Given the description of an element on the screen output the (x, y) to click on. 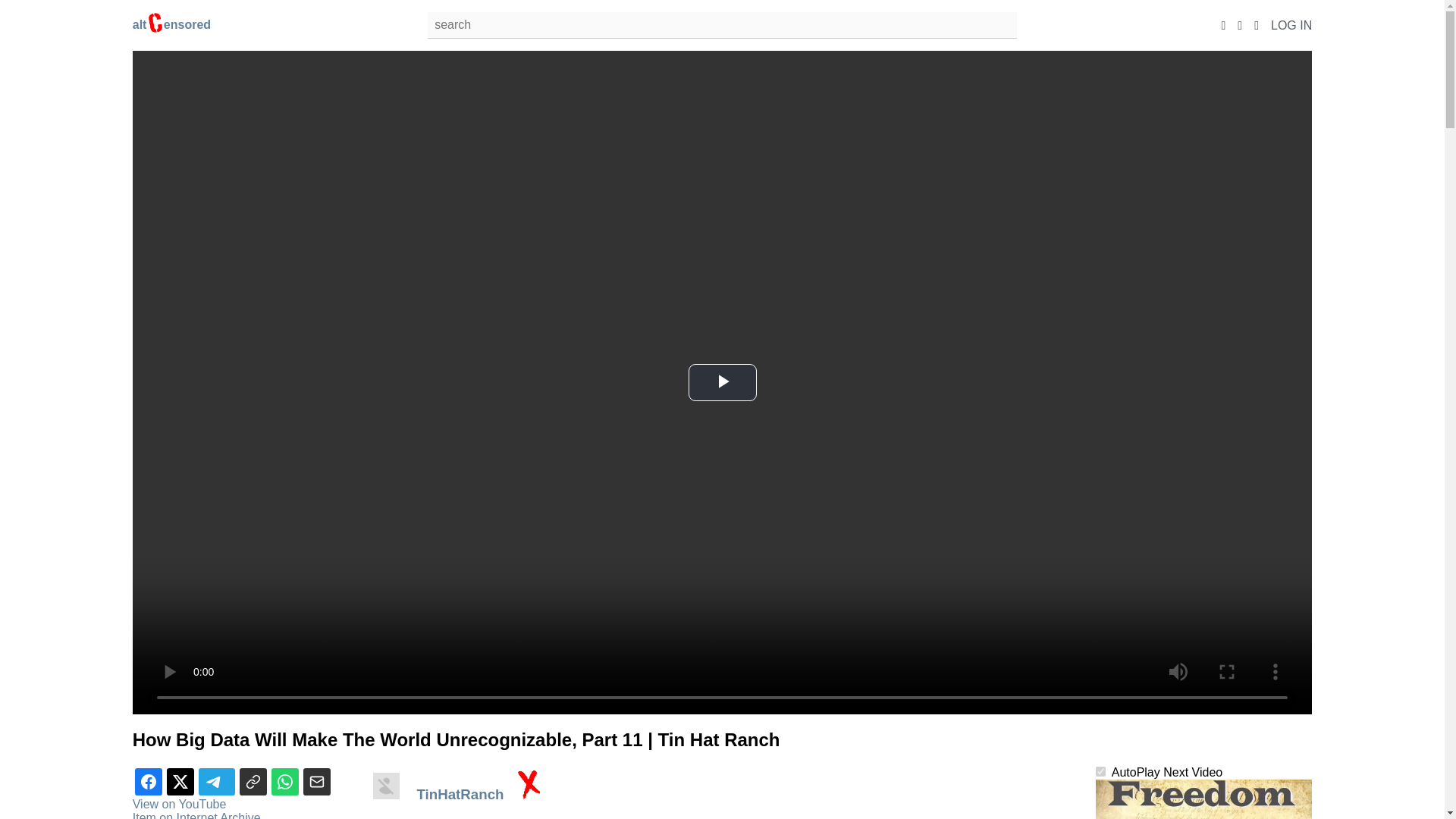
True (1100, 771)
TinHatRanch (461, 794)
LOG IN (1291, 24)
Item on Internet Archive (196, 815)
View on YouTube (179, 803)
alt ensored (171, 24)
